Given the description of an element on the screen output the (x, y) to click on. 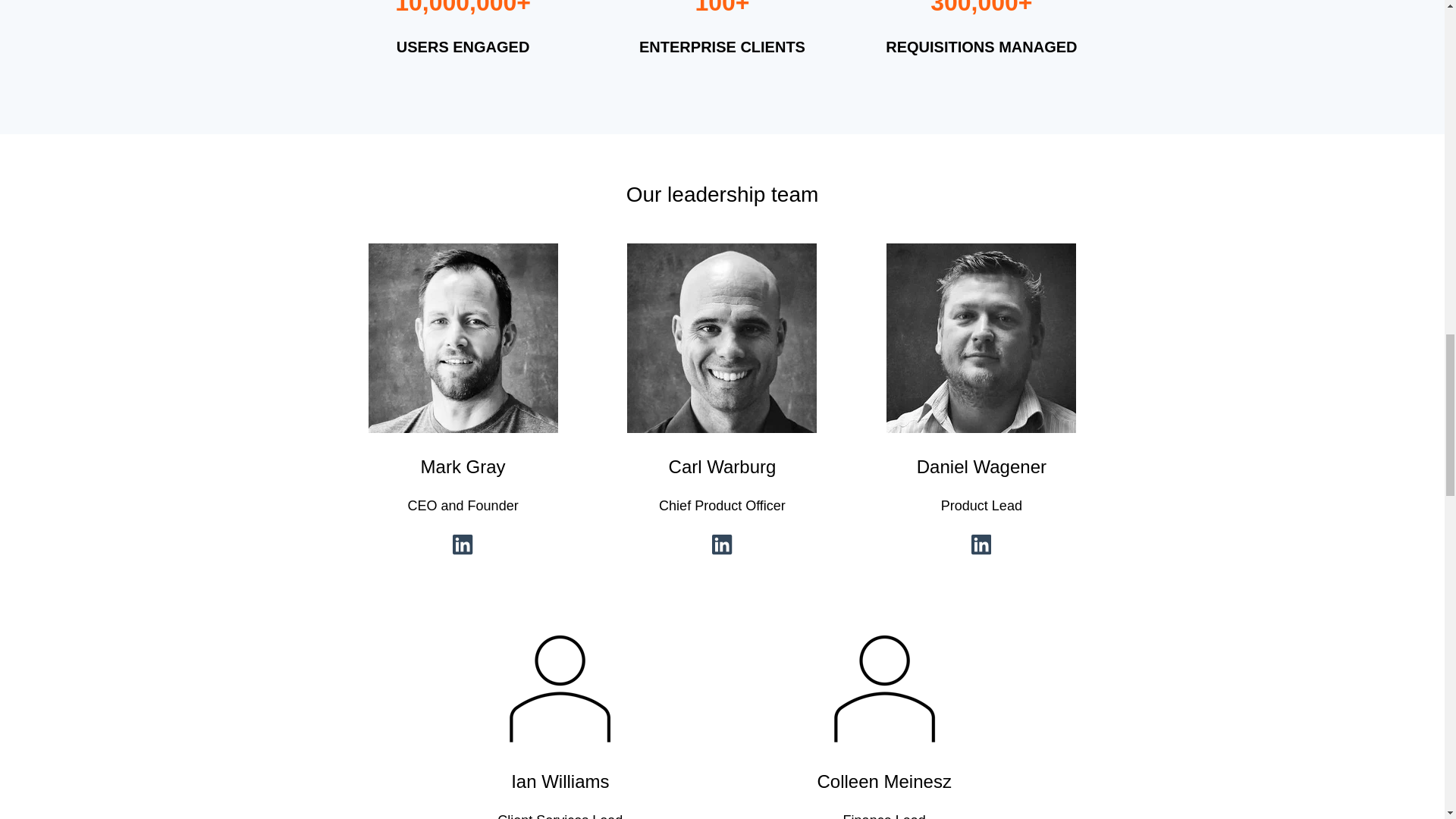
daniel-wagener-graylink (980, 338)
user (559, 688)
carl-warburg-graylink (721, 338)
Mark-Gray-graylink (462, 338)
user (884, 688)
